Given the description of an element on the screen output the (x, y) to click on. 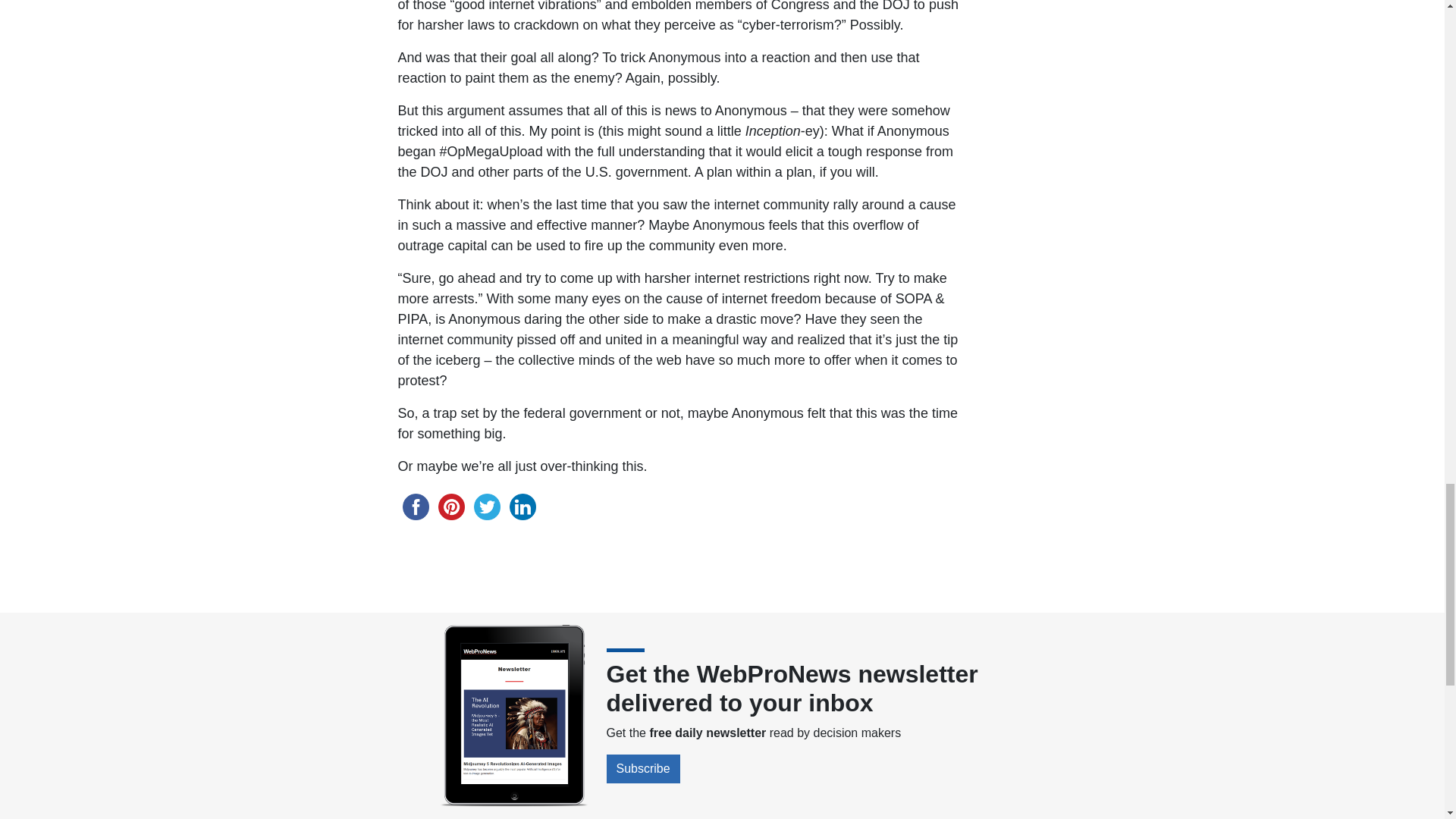
pinterest (450, 506)
twitter (485, 506)
facebook (414, 506)
